Given the description of an element on the screen output the (x, y) to click on. 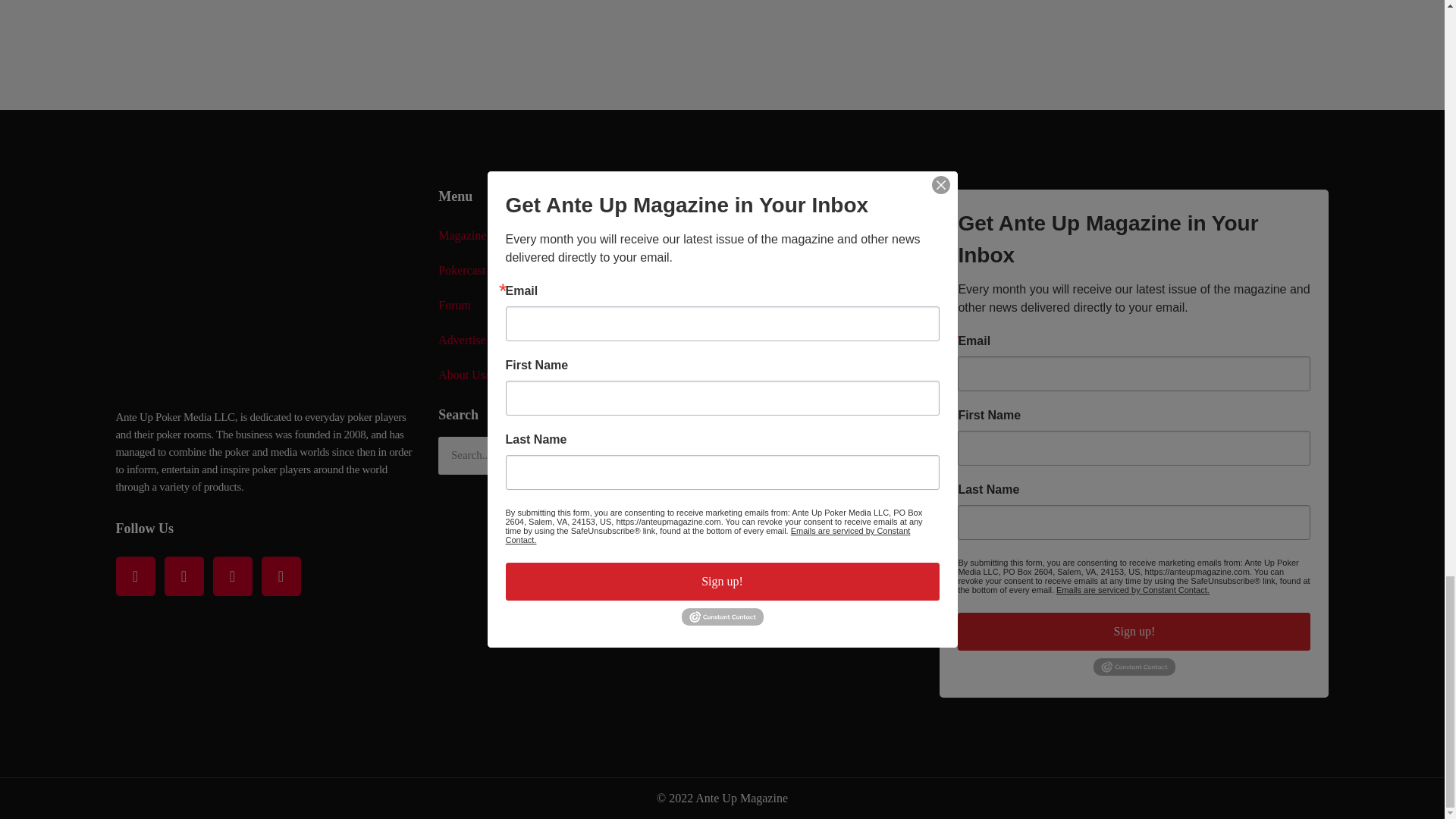
Subscribe on TuneIn (797, 429)
Subscribe via RSS (797, 474)
Subscribe on Apple Podcasts (797, 247)
Subscribe on Android (797, 292)
Subscribe on Podcast Index (797, 338)
Subscribe by Email (797, 383)
